Given the description of an element on the screen output the (x, y) to click on. 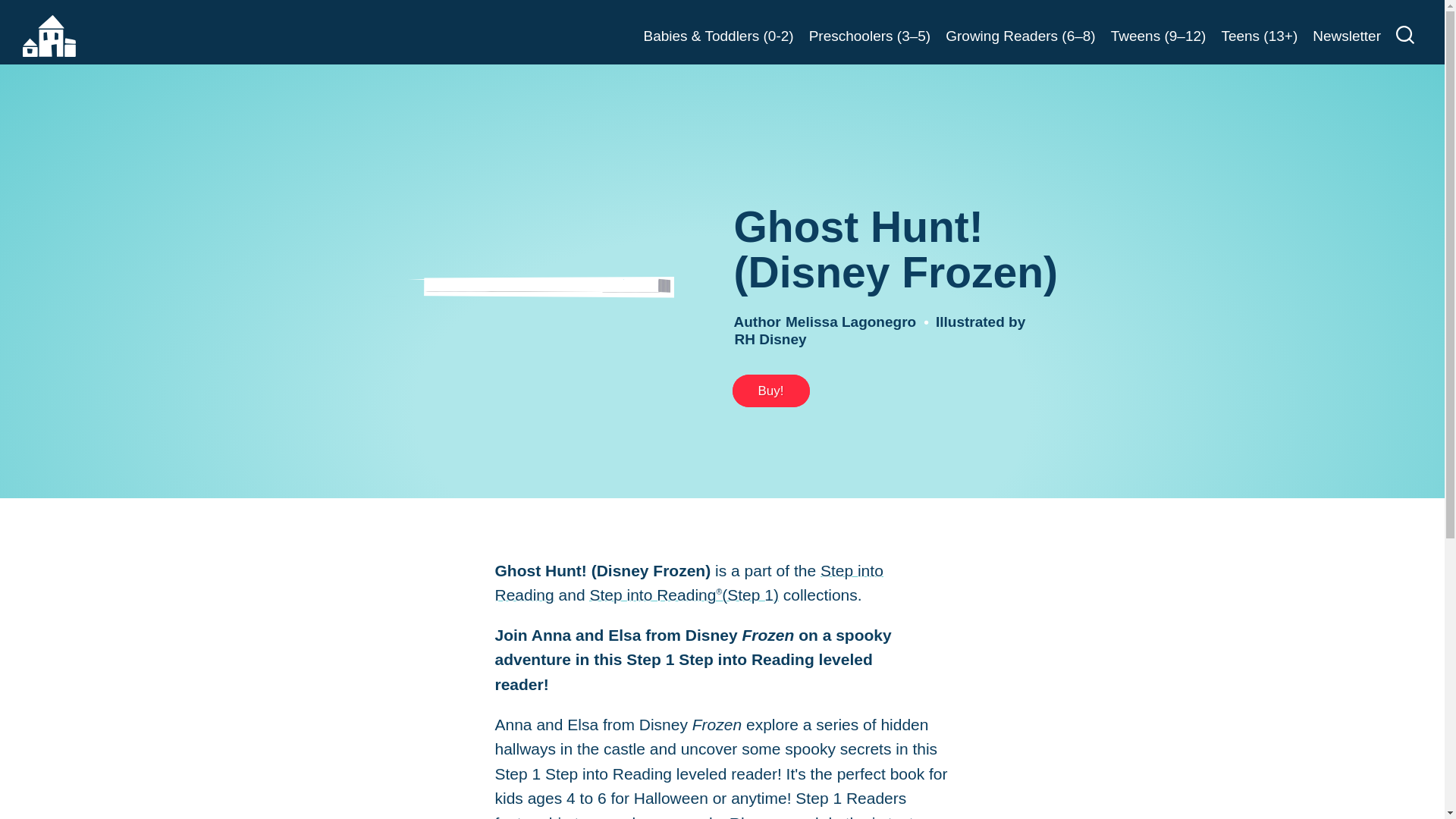
Buy! (770, 390)
Newsletter (1346, 36)
Home (49, 35)
RH Disney (770, 339)
Melissa Lagonegro (850, 321)
